Given the description of an element on the screen output the (x, y) to click on. 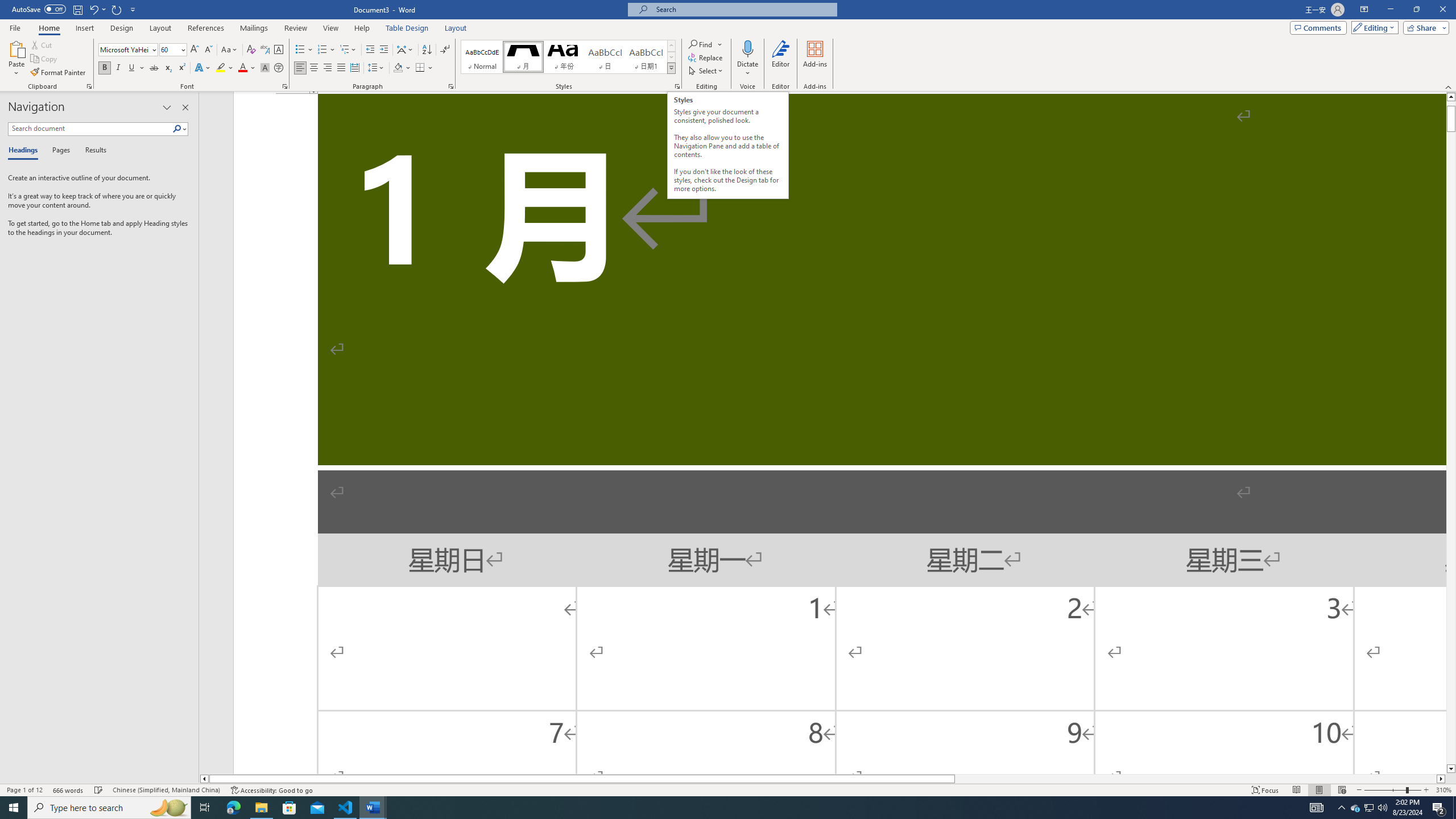
Line and Paragraph Spacing (376, 67)
Mailings (253, 28)
Class: MsoCommandBar (728, 789)
Language Chinese (Simplified, Mainland China) (165, 790)
Align Left (300, 67)
Dictate (747, 58)
Page Number Page 1 of 12 (24, 790)
View (330, 28)
Multilevel List (347, 49)
Font Color RGB(255, 0, 0) (241, 67)
Column right (1441, 778)
Office Clipboard... (88, 85)
Share (1423, 27)
Microsoft search (742, 9)
Bullets (300, 49)
